Given the description of an element on the screen output the (x, y) to click on. 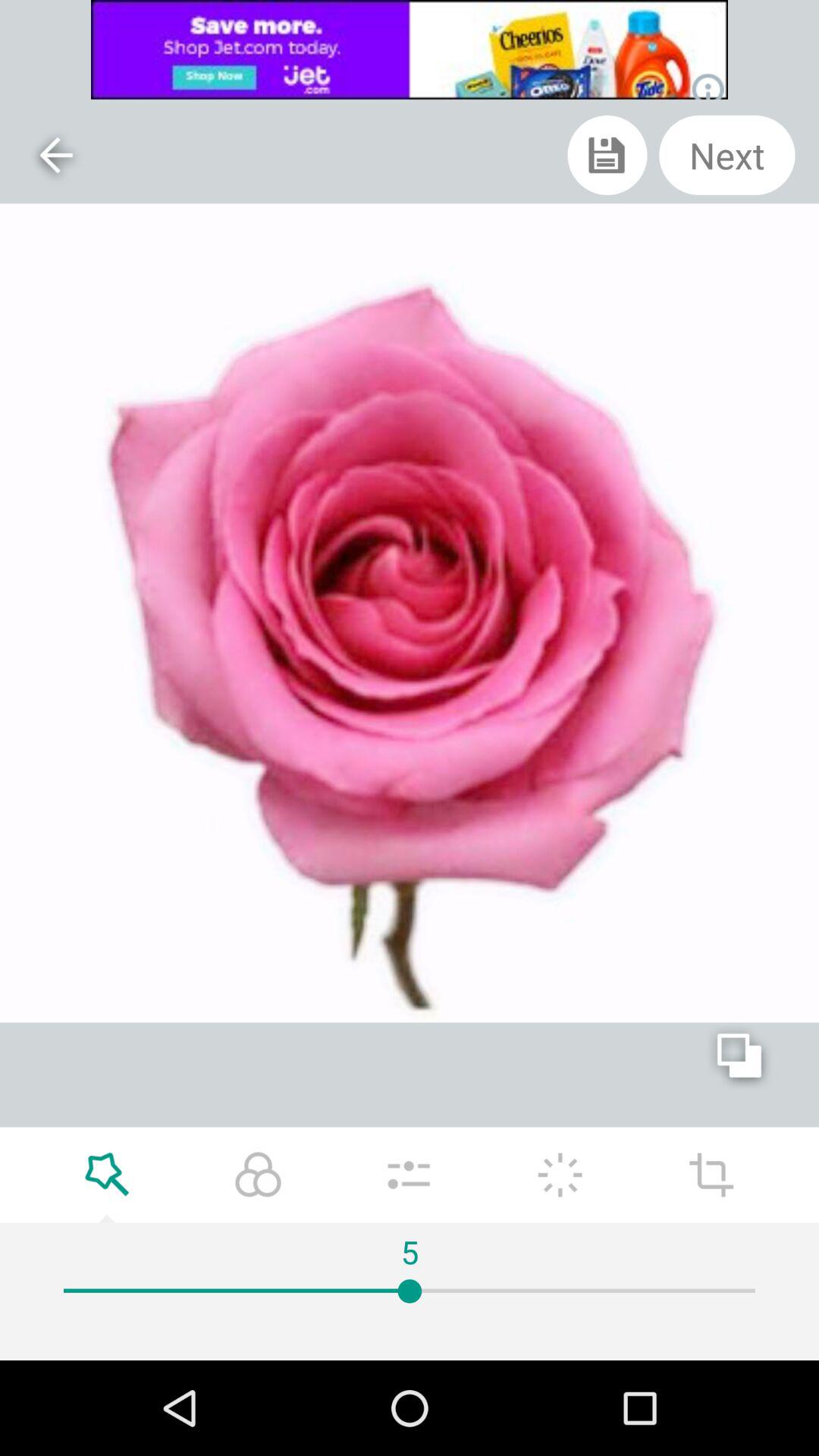
zoom in to picture (106, 1174)
